Given the description of an element on the screen output the (x, y) to click on. 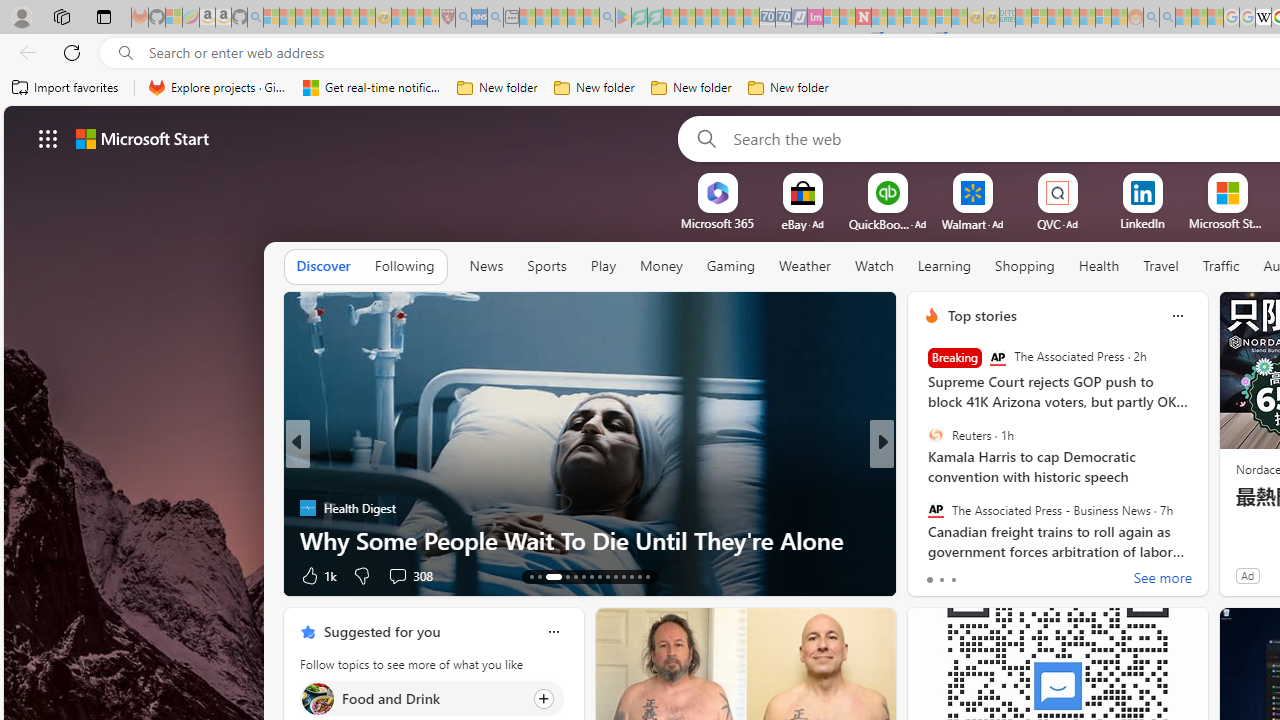
Why Some People Wait To Die Until They're Alone (589, 539)
73 Like (934, 574)
View comments 31 Comment (1029, 574)
AutomationID: tab-13 (531, 576)
Body Network (923, 475)
